Given the description of an element on the screen output the (x, y) to click on. 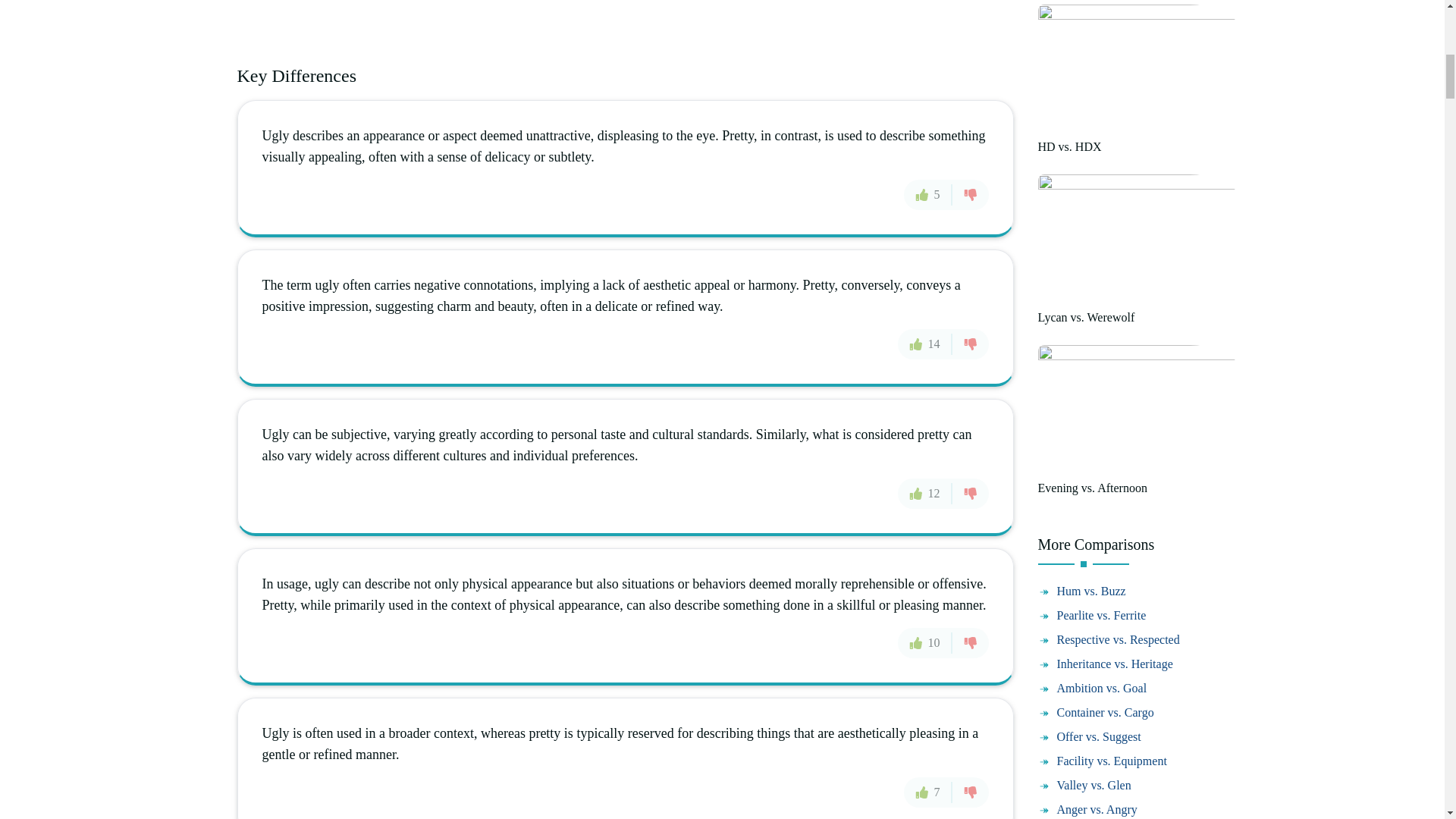
7 (928, 792)
14 (925, 344)
12 (925, 493)
5 (928, 194)
10 (925, 643)
